Given the description of an element on the screen output the (x, y) to click on. 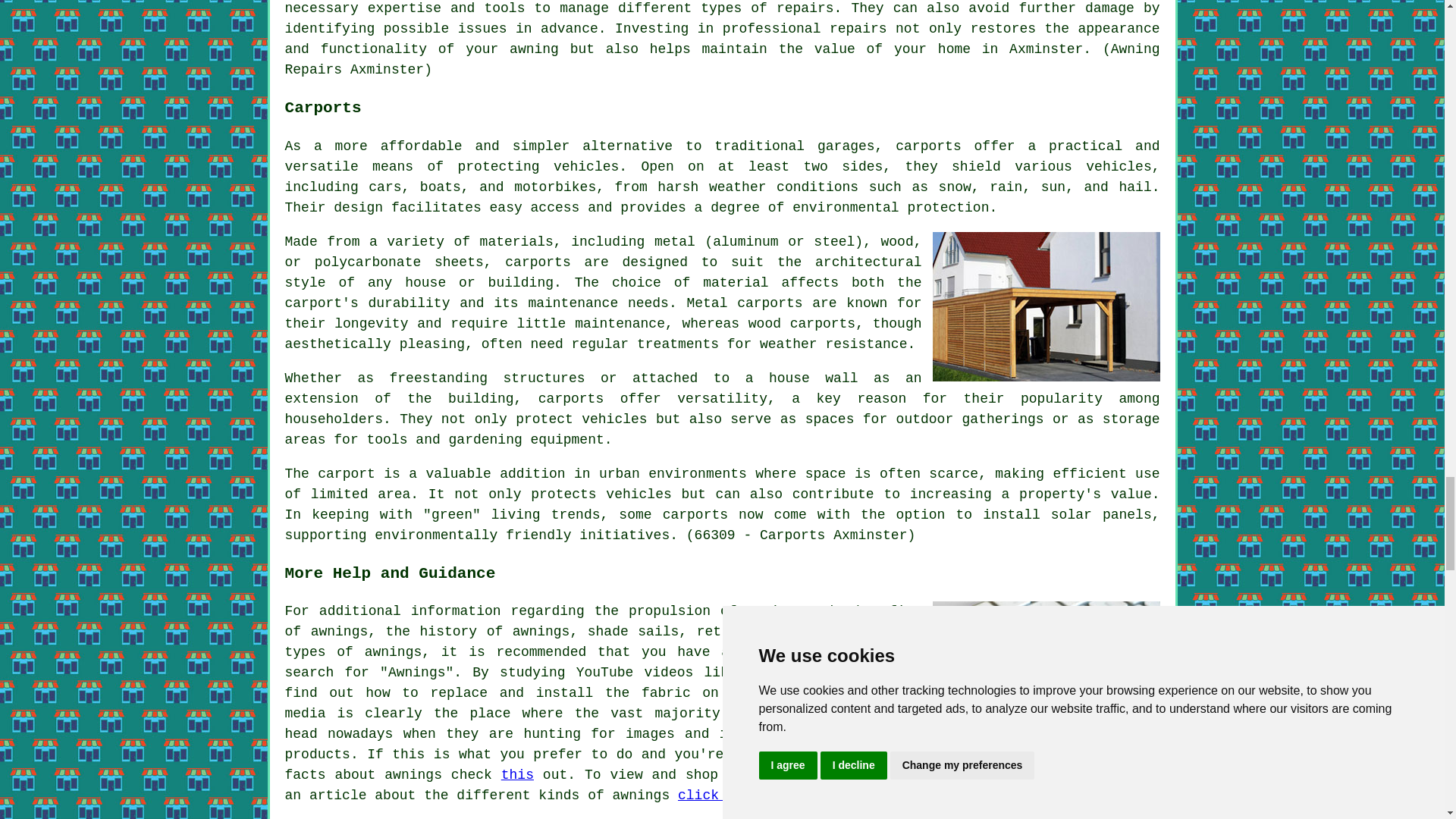
carports (927, 145)
carports (695, 514)
awning (534, 48)
Carports Axminster (1046, 306)
